Given the description of an element on the screen output the (x, y) to click on. 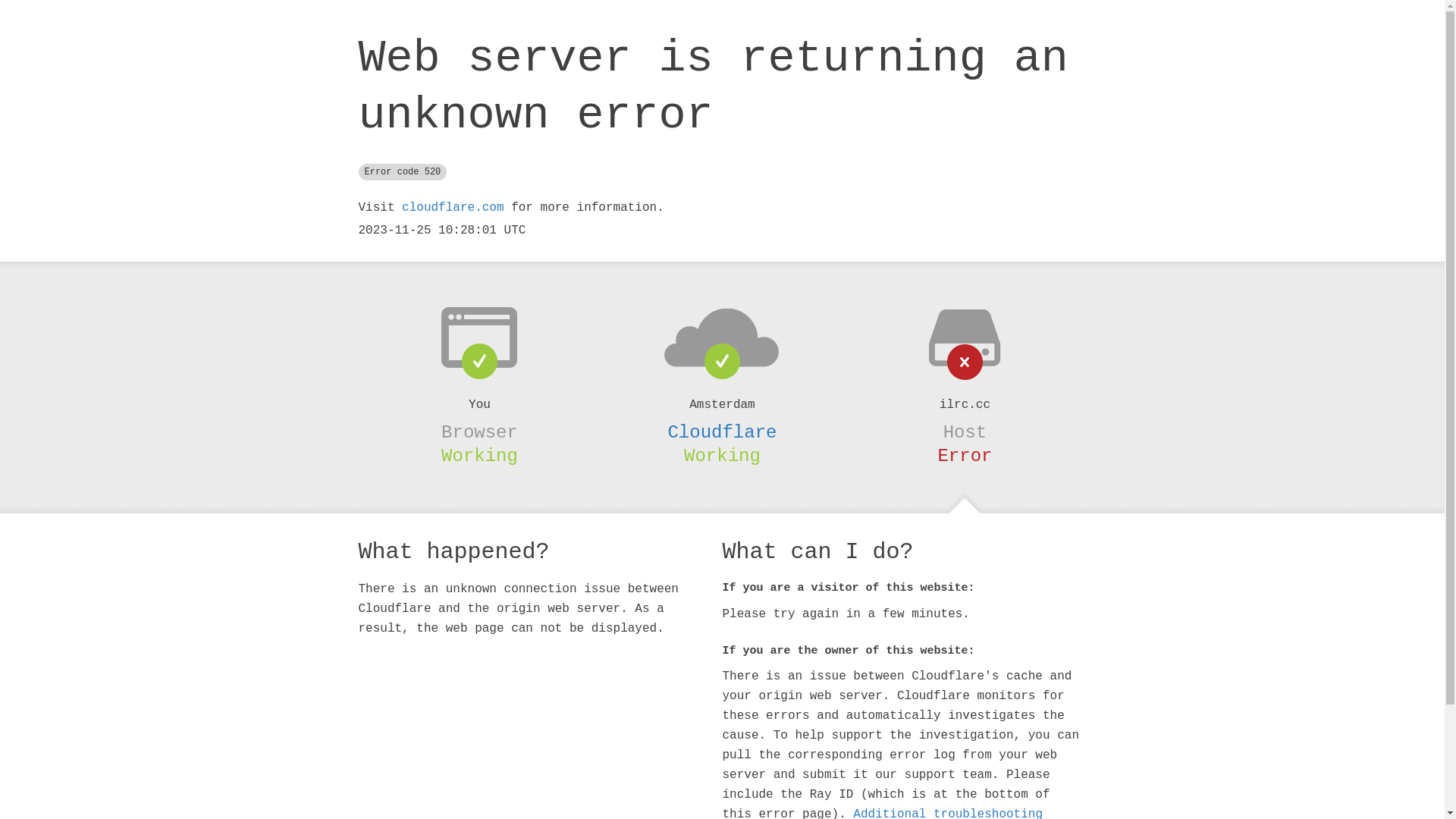
Cloudflare Element type: text (721, 432)
cloudflare.com Element type: text (452, 207)
